Given the description of an element on the screen output the (x, y) to click on. 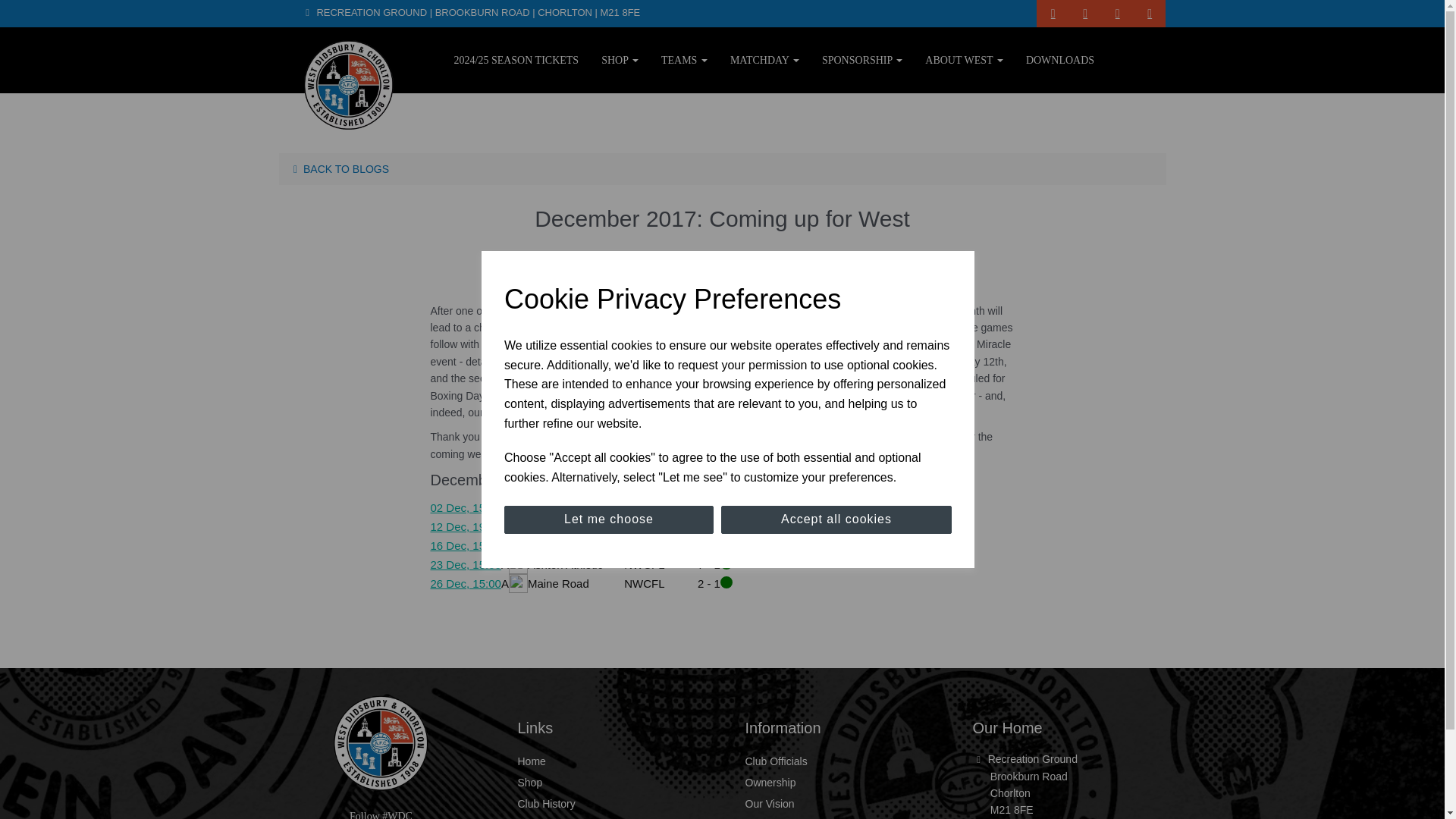
Let me choose (608, 519)
SHOP (619, 60)
TEAMS (684, 60)
Accept all cookies (836, 519)
MATCHDAY (764, 60)
